Given the description of an element on the screen output the (x, y) to click on. 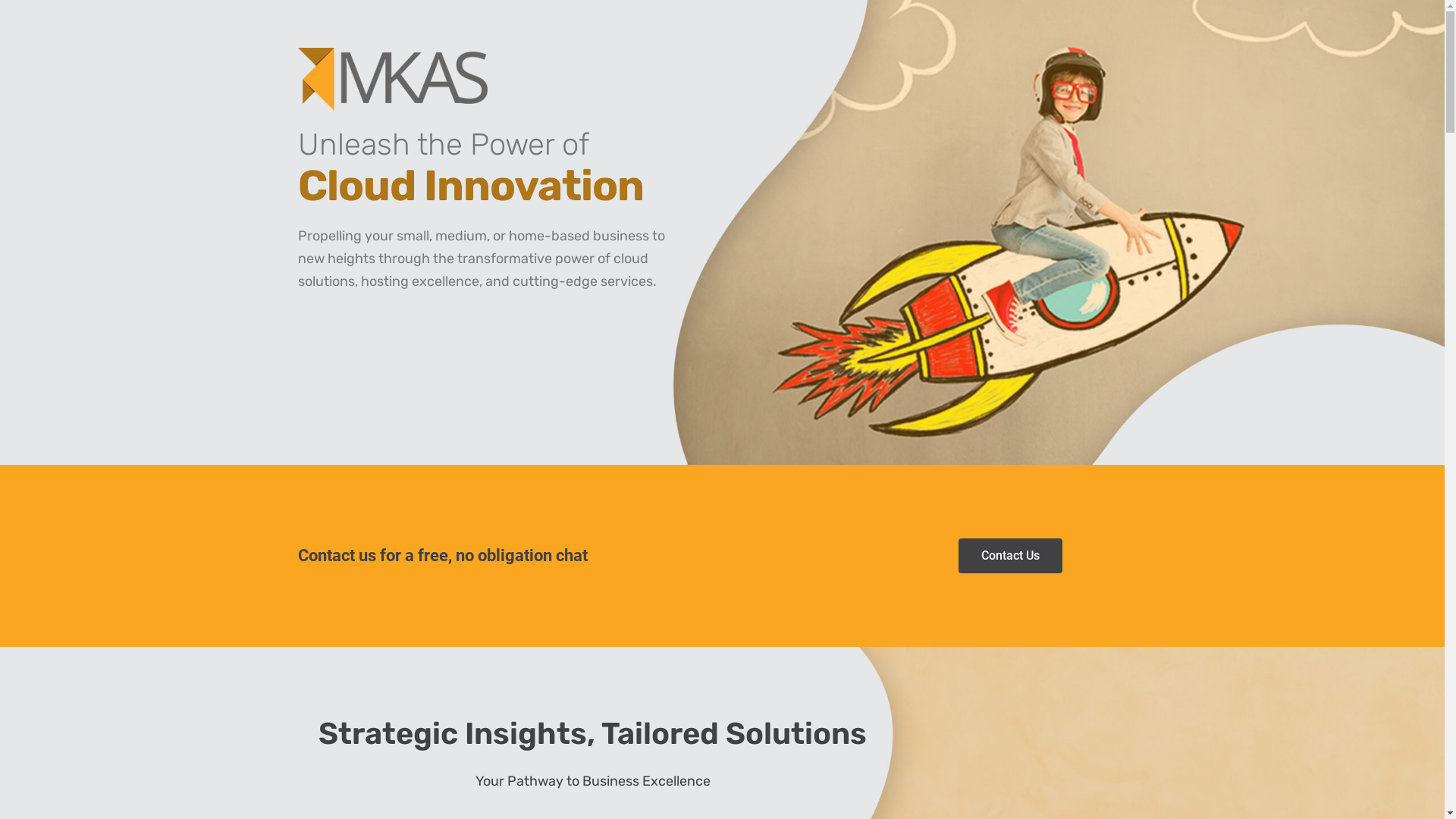
Contact Us Element type: text (1010, 555)
